Given the description of an element on the screen output the (x, y) to click on. 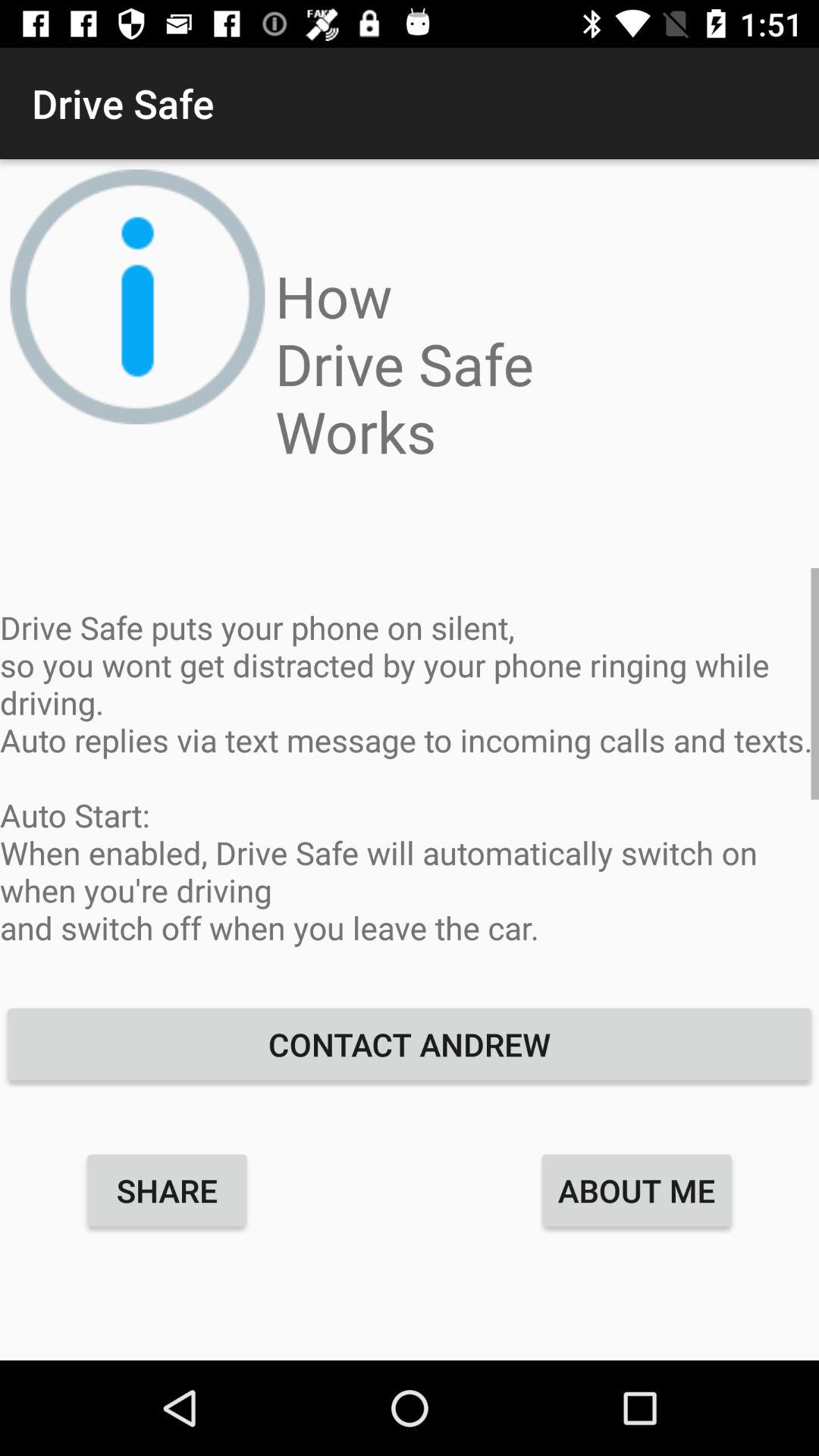
open the icon next to the about me (166, 1190)
